Given the description of an element on the screen output the (x, y) to click on. 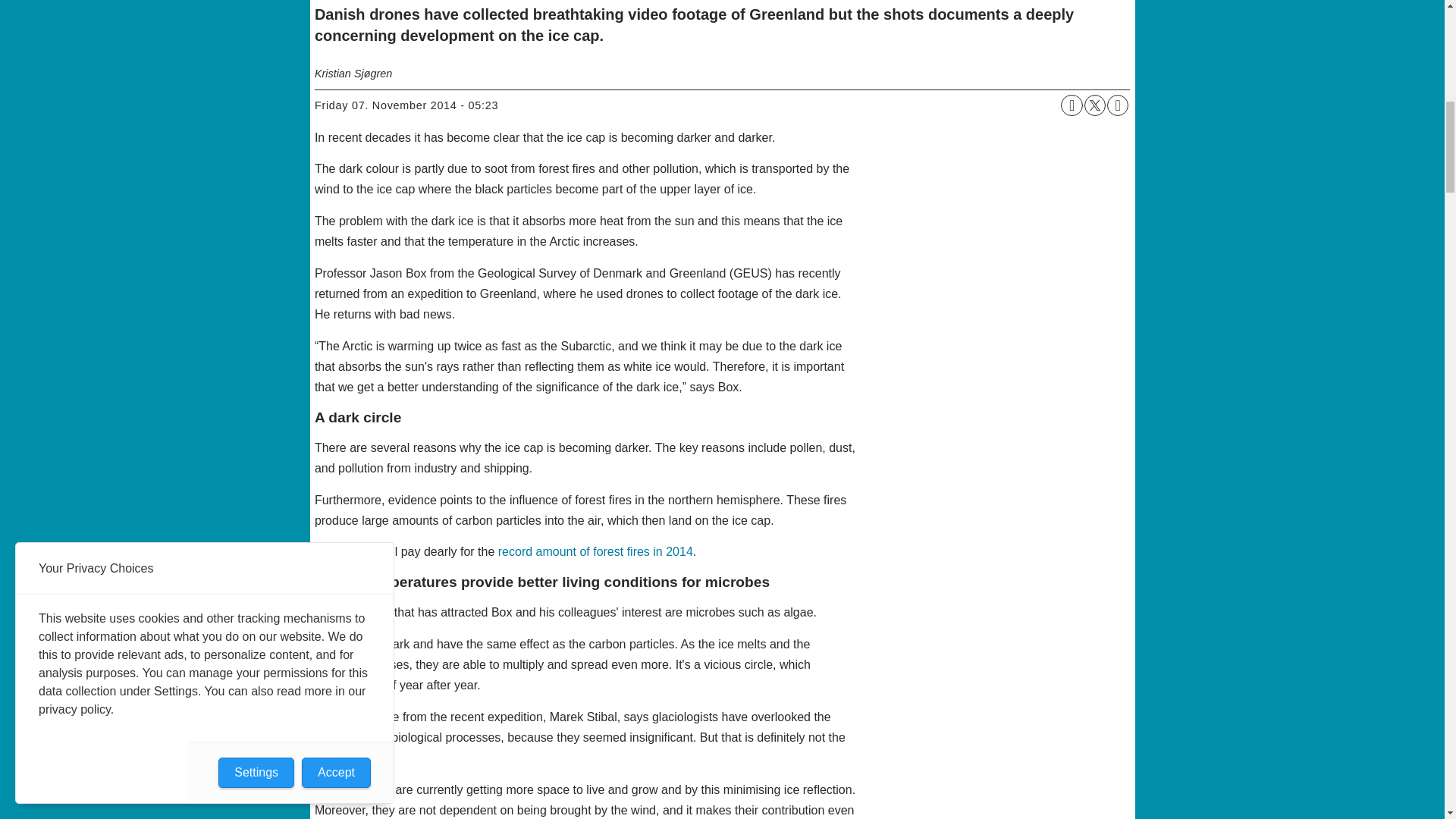
record amount of forest fires in 2014 (595, 551)
 friday 07. November 2014 - 05:23 (405, 106)
